Given the description of an element on the screen output the (x, y) to click on. 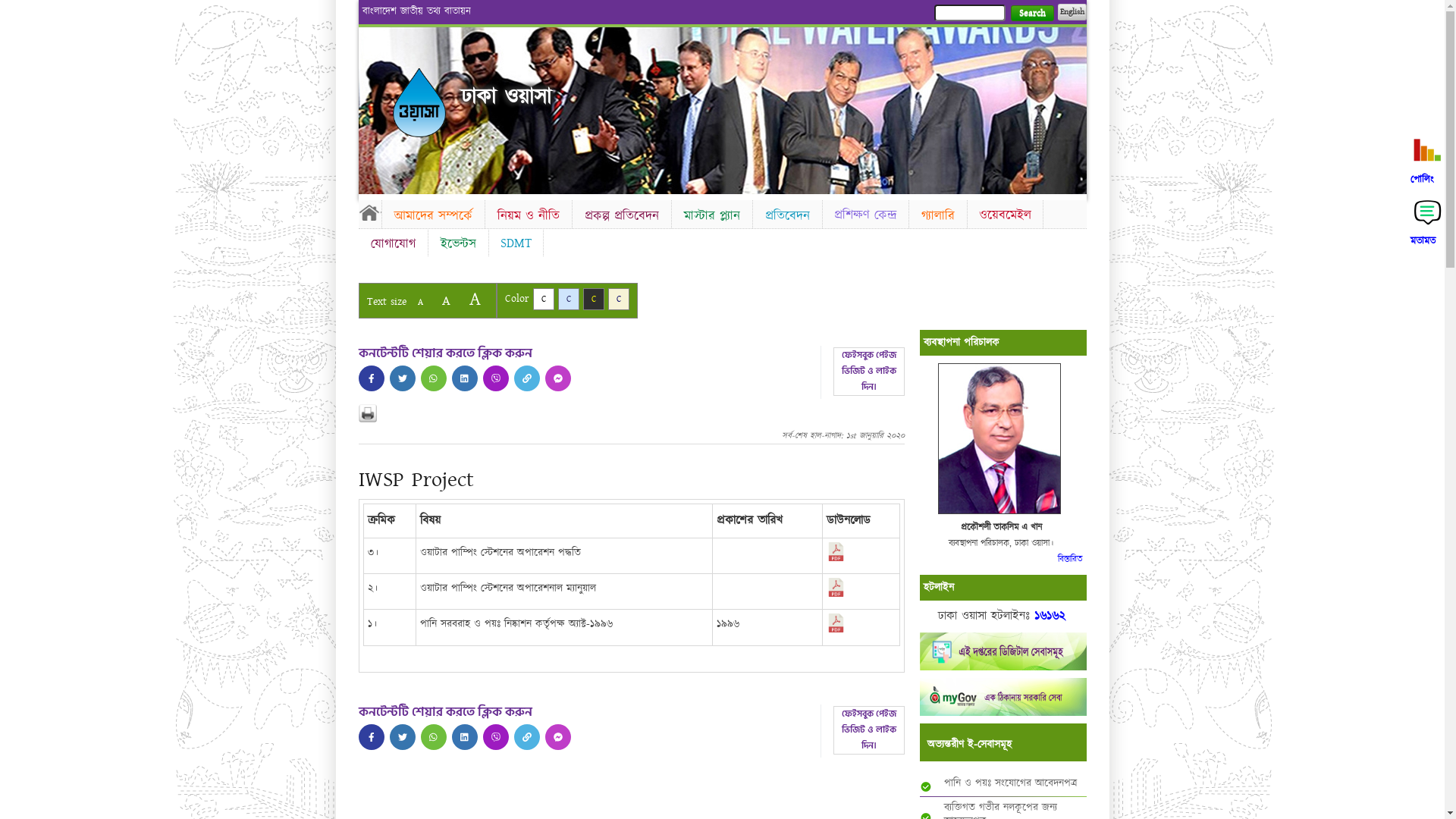
SDMT Element type: text (515, 243)
Home Element type: hover (368, 211)
C Element type: text (568, 299)
A Element type: text (445, 300)
Home Element type: hover (418, 102)
English Element type: text (1071, 11)
Search Element type: text (1031, 13)
A Element type: text (419, 301)
A Element type: text (474, 298)
C Element type: text (618, 299)
C Element type: text (592, 299)
C Element type: text (542, 299)
